Given the description of an element on the screen output the (x, y) to click on. 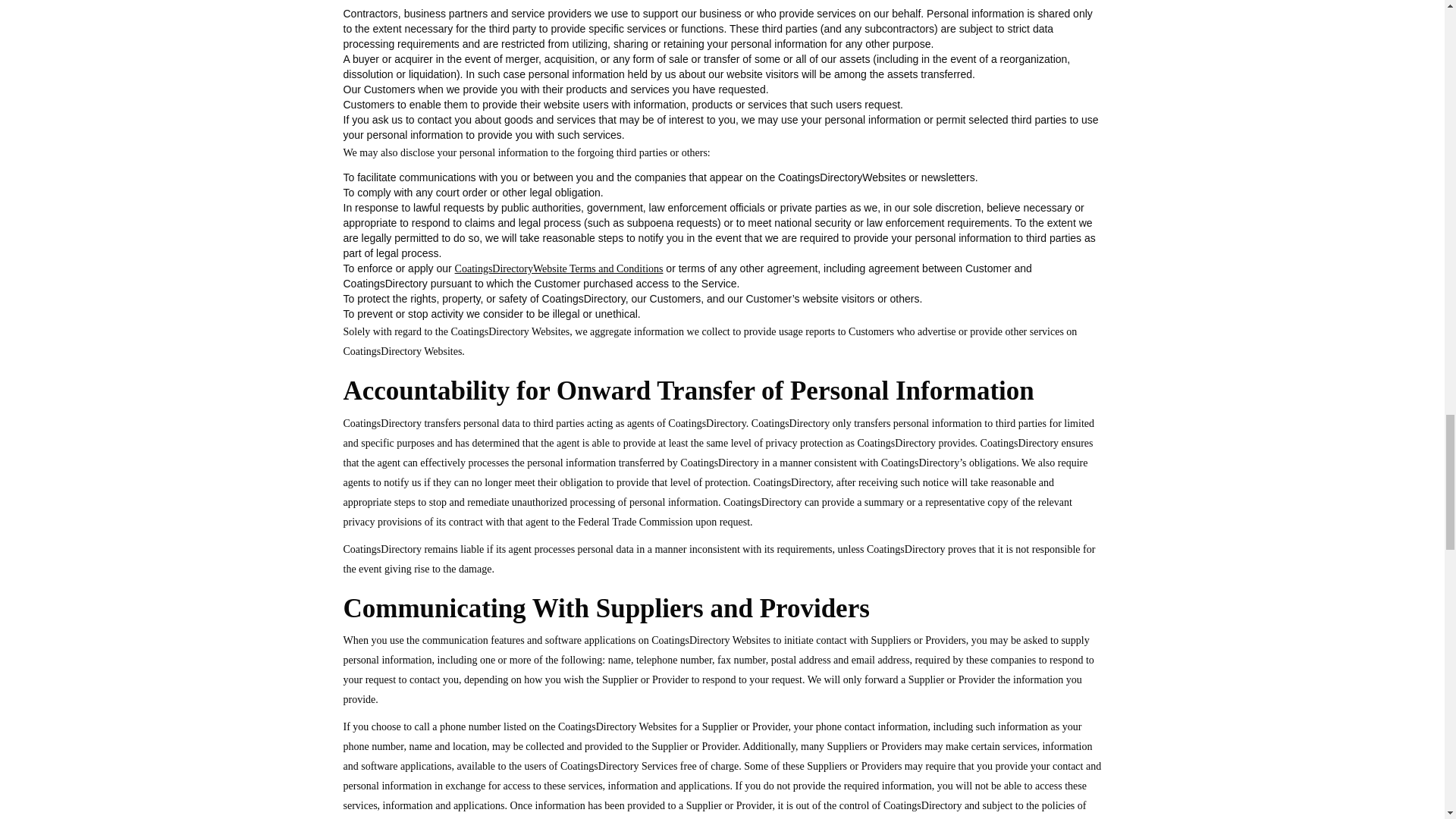
CoatingsDirectoryWebsite Terms and Conditions (558, 268)
